Given the description of an element on the screen output the (x, y) to click on. 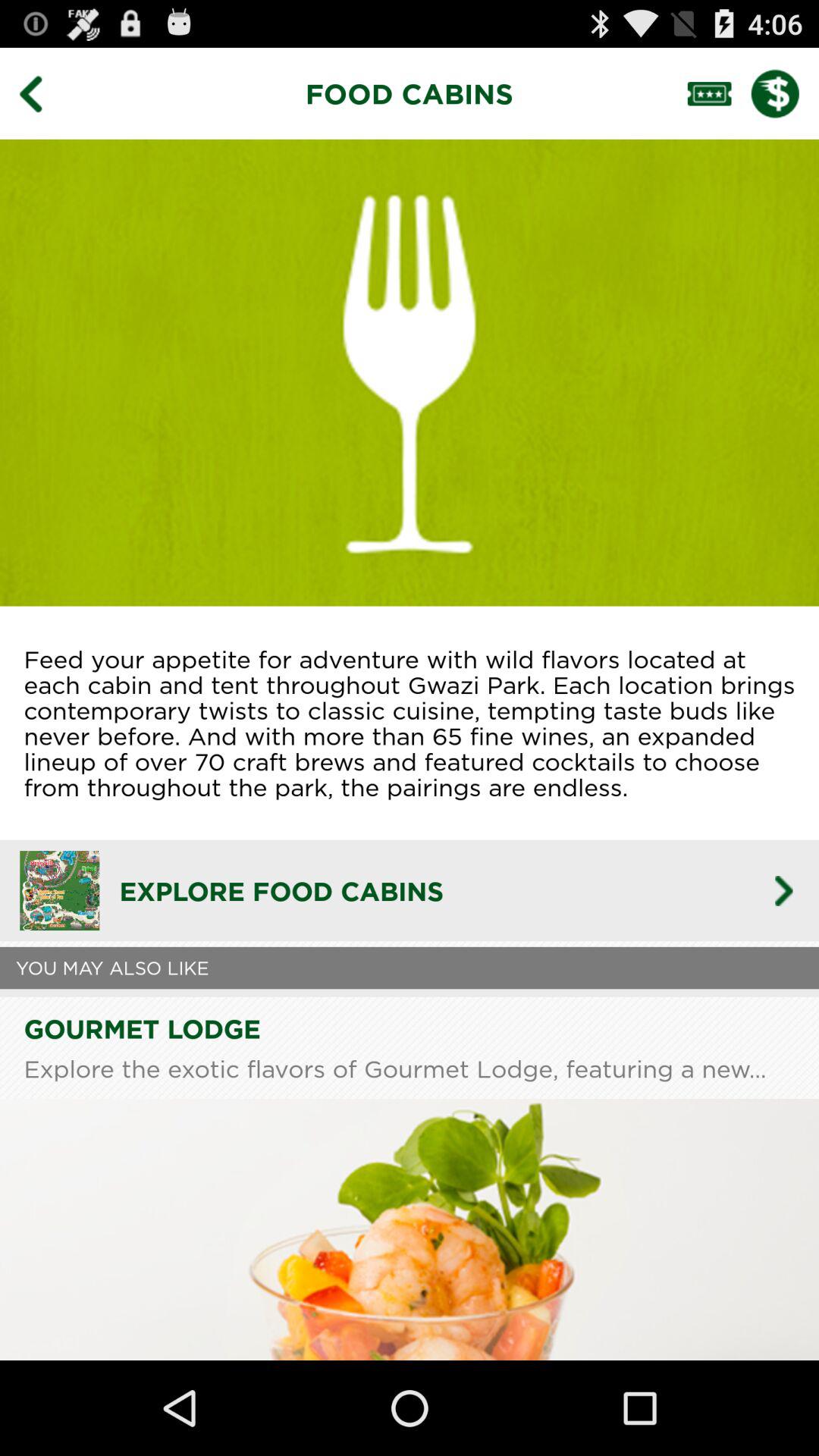
select icon at the top left corner (41, 93)
